Given the description of an element on the screen output the (x, y) to click on. 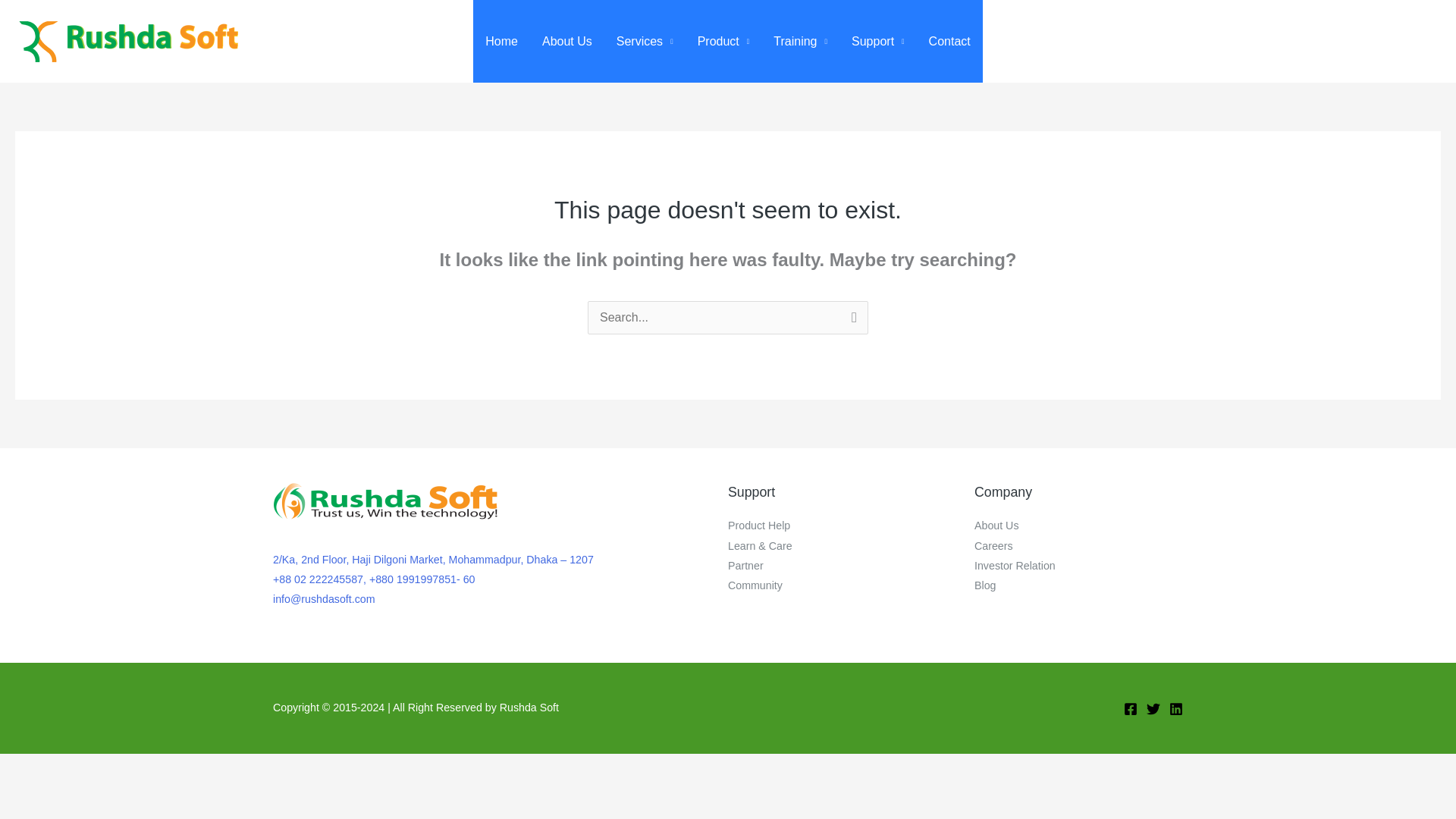
Contact (949, 41)
Training (800, 41)
Product (723, 41)
Search (850, 320)
Search (850, 320)
Support (878, 41)
Home (501, 41)
Services (644, 41)
About Us (566, 41)
